Given the description of an element on the screen output the (x, y) to click on. 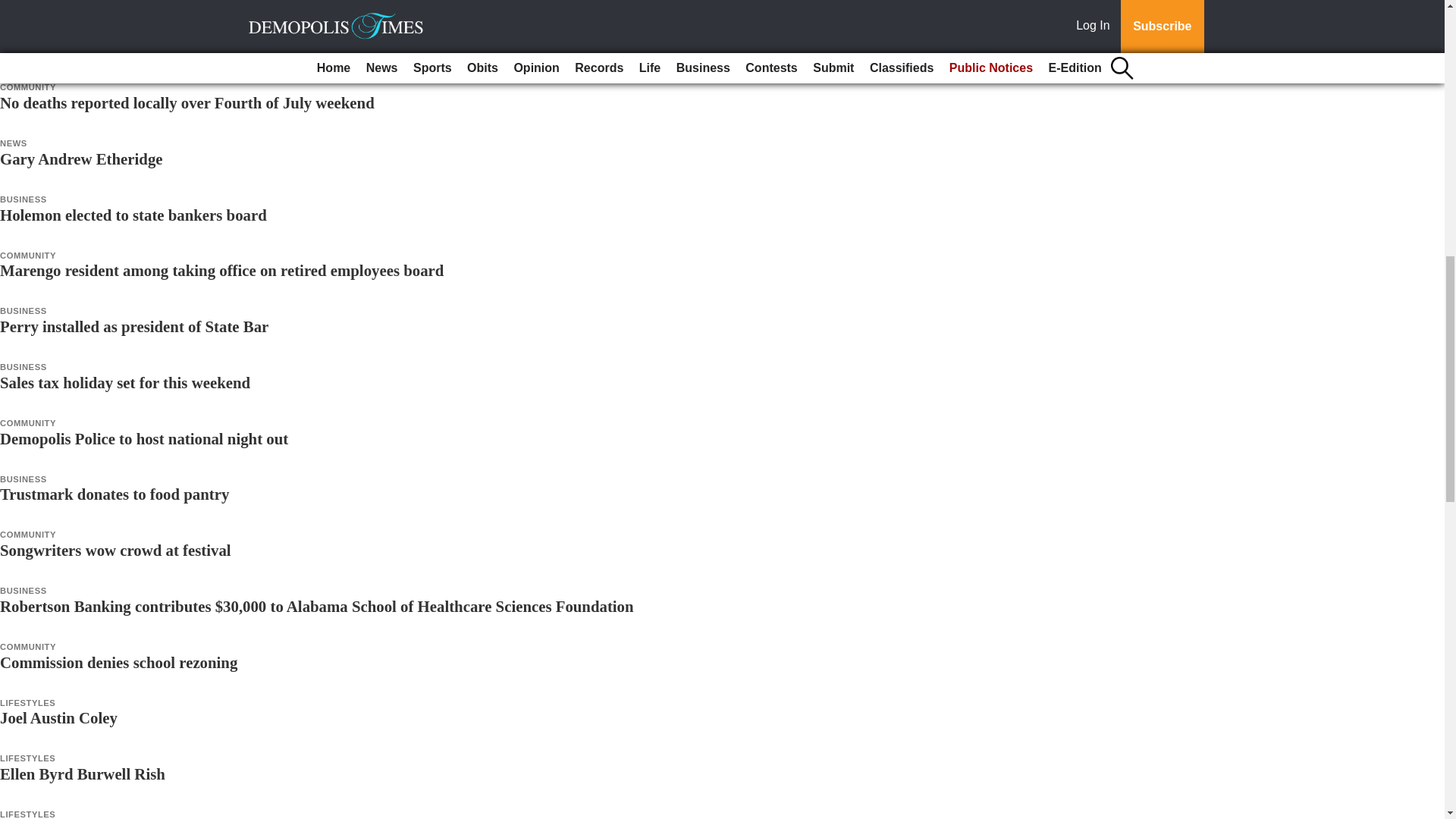
No deaths reported locally over Fourth of July weekend (187, 102)
Joel Austin Coley (58, 717)
Ellen Byrd Burwell Rish (82, 773)
Commission denies school rezoning (118, 661)
Holemon elected to state bankers board (133, 214)
Trustmark donates to food pantry (114, 493)
Uniontown man dies in crash near Gallion (141, 46)
Sales tax holiday set for this weekend (125, 382)
Demopolis Police to host national night out (144, 438)
No deaths reported locally over Fourth of July weekend (187, 102)
Uniontown man dies in crash near Gallion (141, 46)
